Given the description of an element on the screen output the (x, y) to click on. 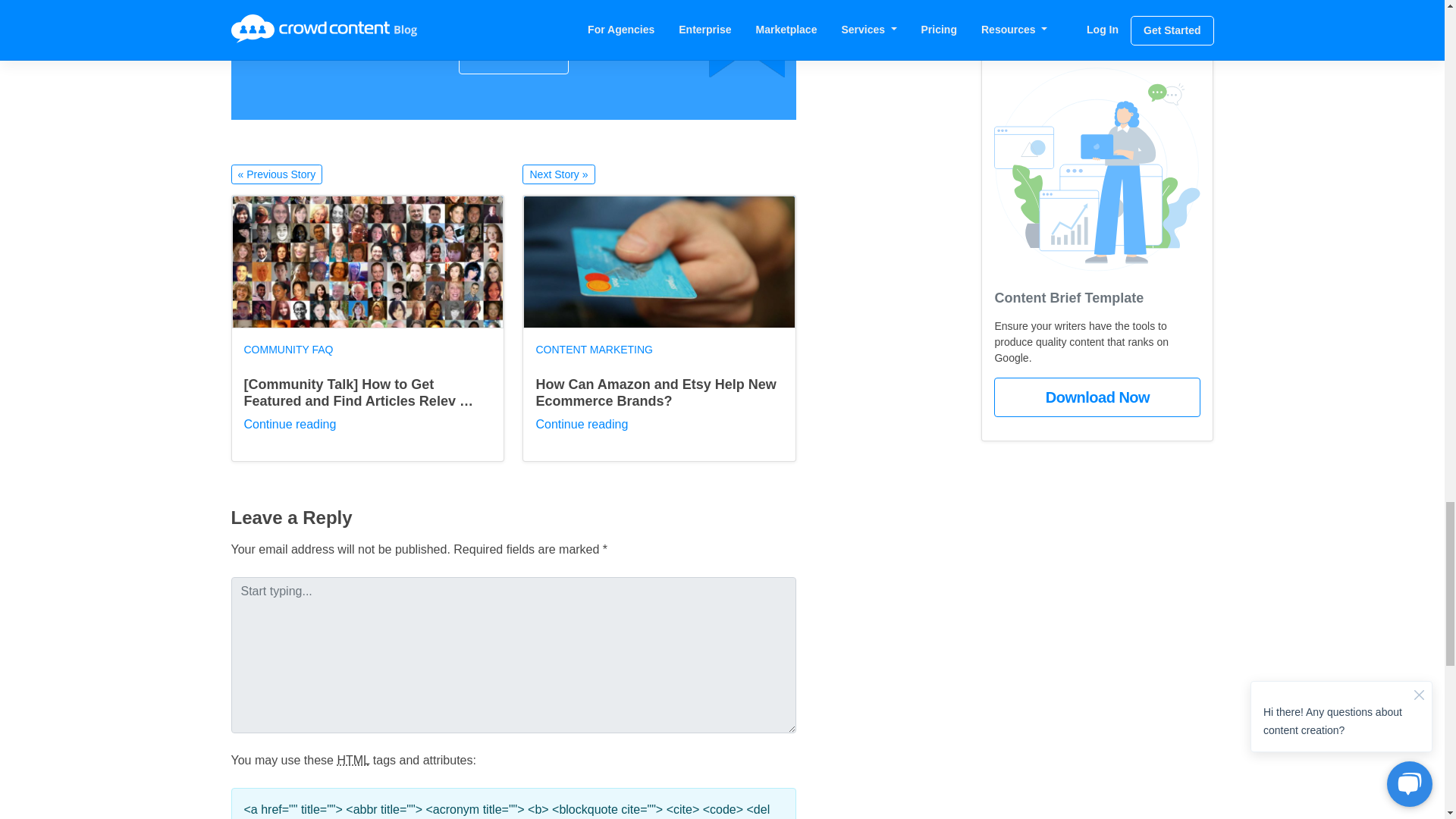
Learn more (513, 54)
Continue reading (290, 423)
COMMUNITY FAQ (288, 349)
